Given the description of an element on the screen output the (x, y) to click on. 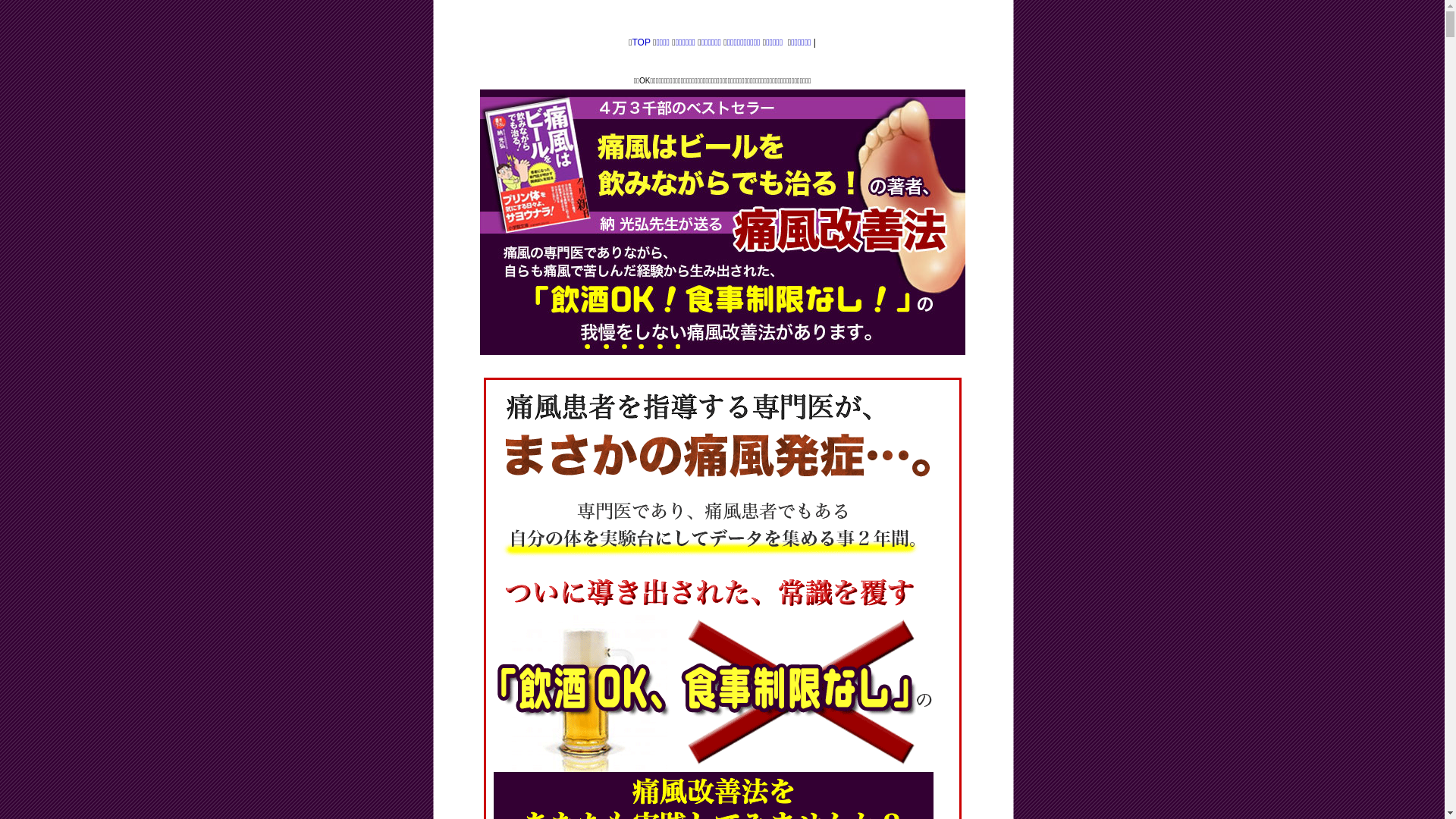
TOP Element type: text (640, 42)
